Given the description of an element on the screen output the (x, y) to click on. 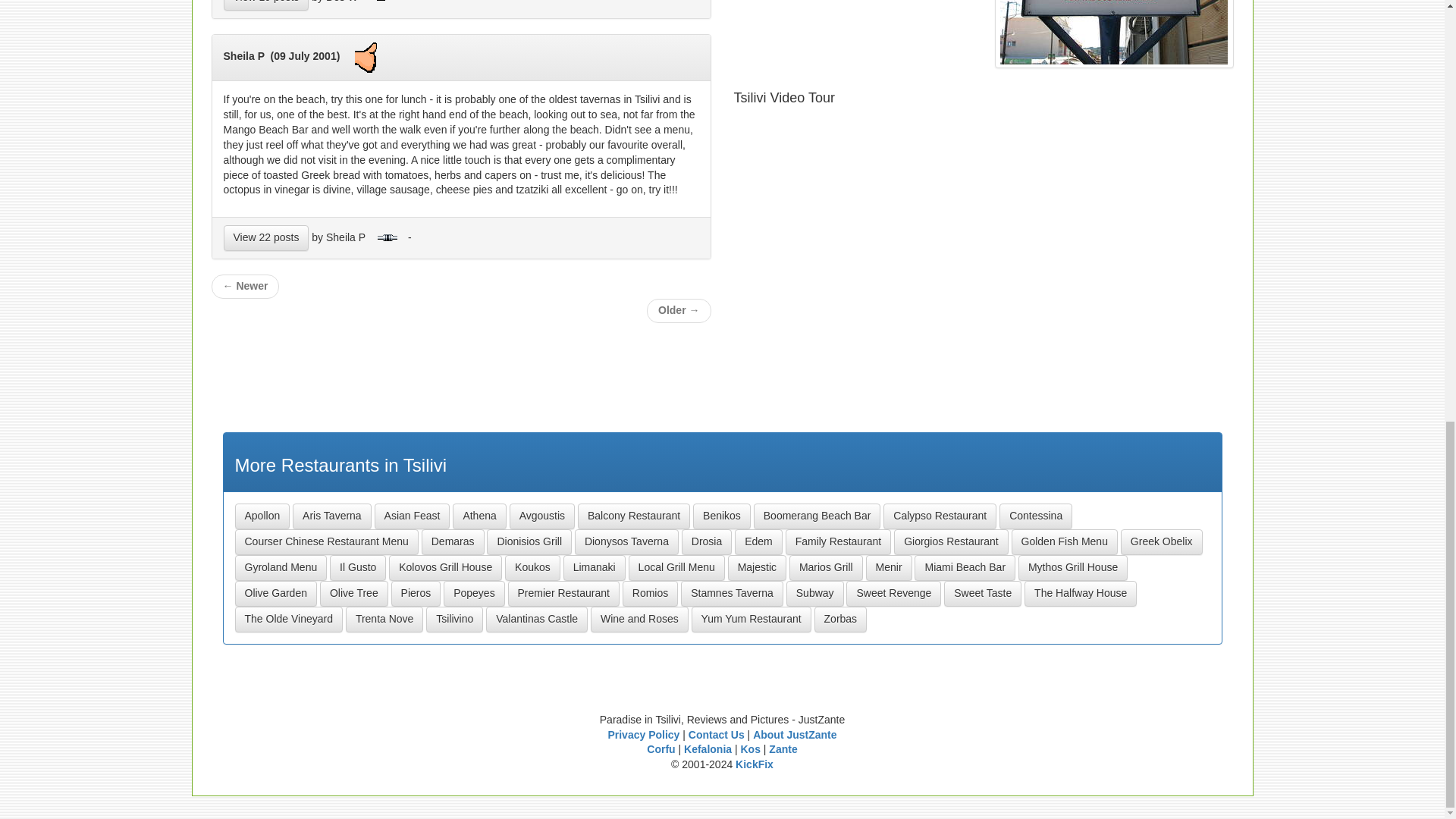
View 19 posts (265, 5)
View 22 posts (265, 237)
